Given the description of an element on the screen output the (x, y) to click on. 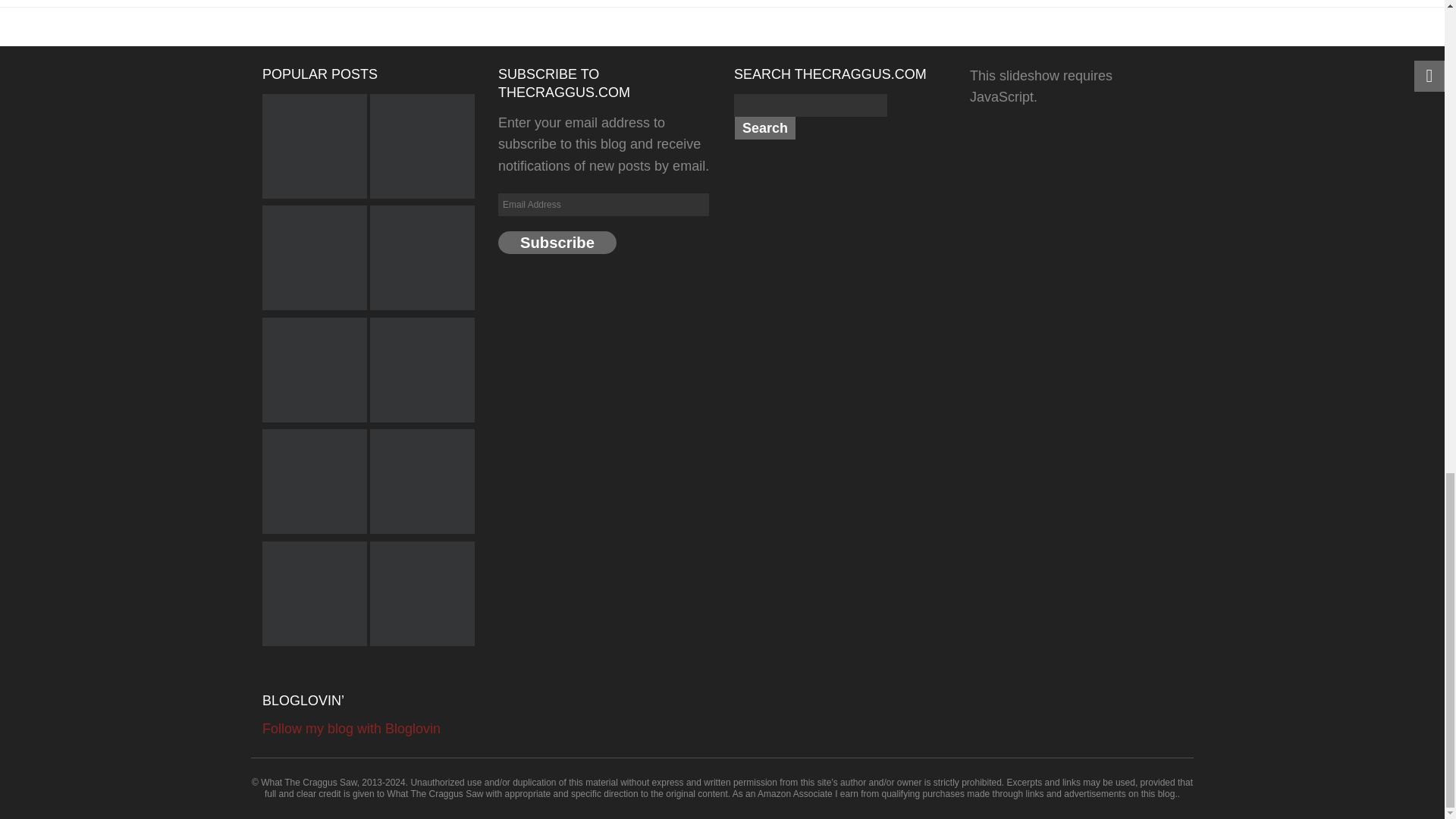
Search (764, 128)
Loudermilk Season One Review (421, 148)
Secret Invasion Review (314, 483)
Subscribe (556, 241)
Search (764, 128)
Follow my blog with Bloglovin (351, 728)
